Given the description of an element on the screen output the (x, y) to click on. 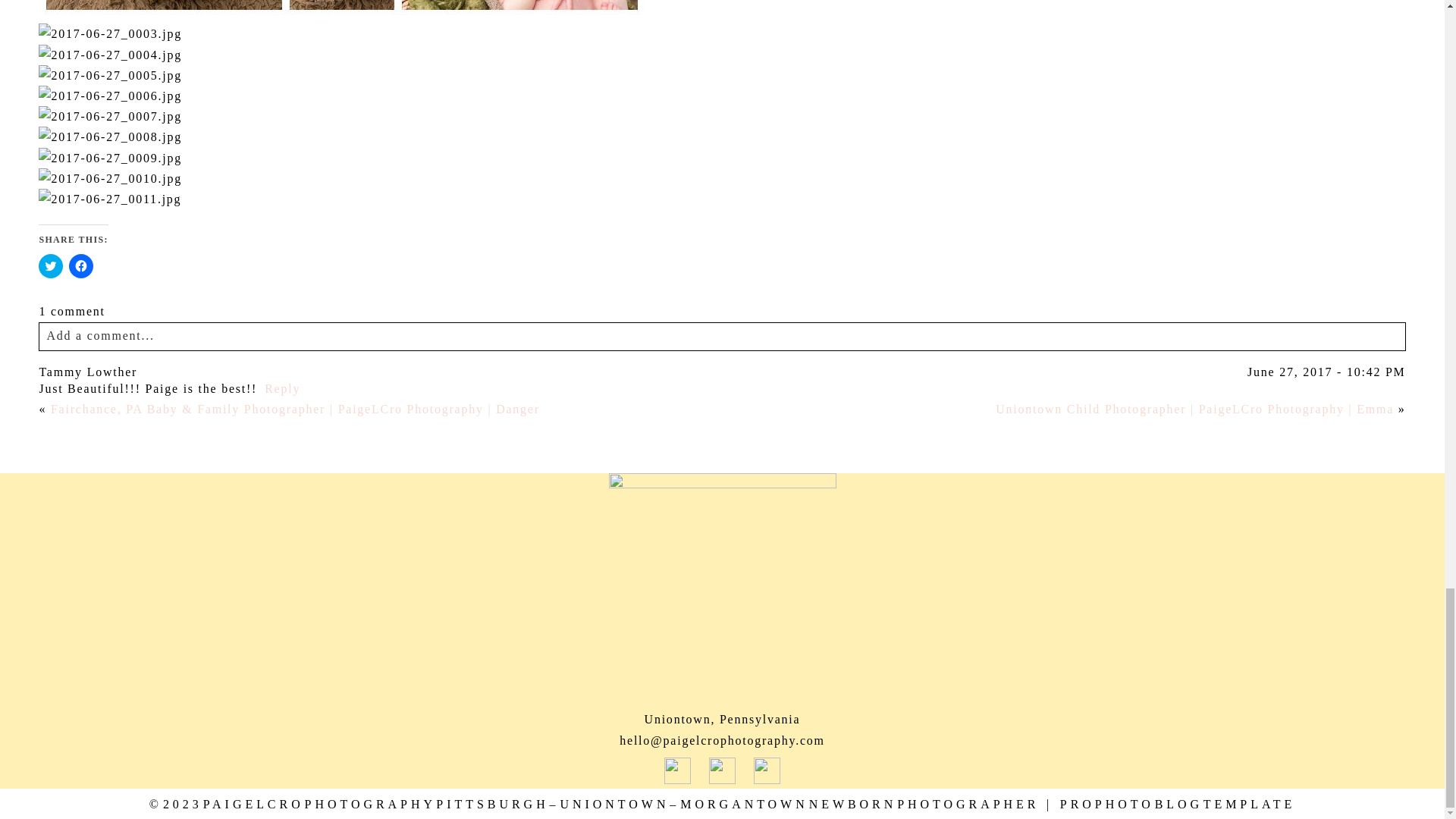
PROPHOTO BLOG TEMPLATE (1177, 803)
Reply (281, 388)
